Given the description of an element on the screen output the (x, y) to click on. 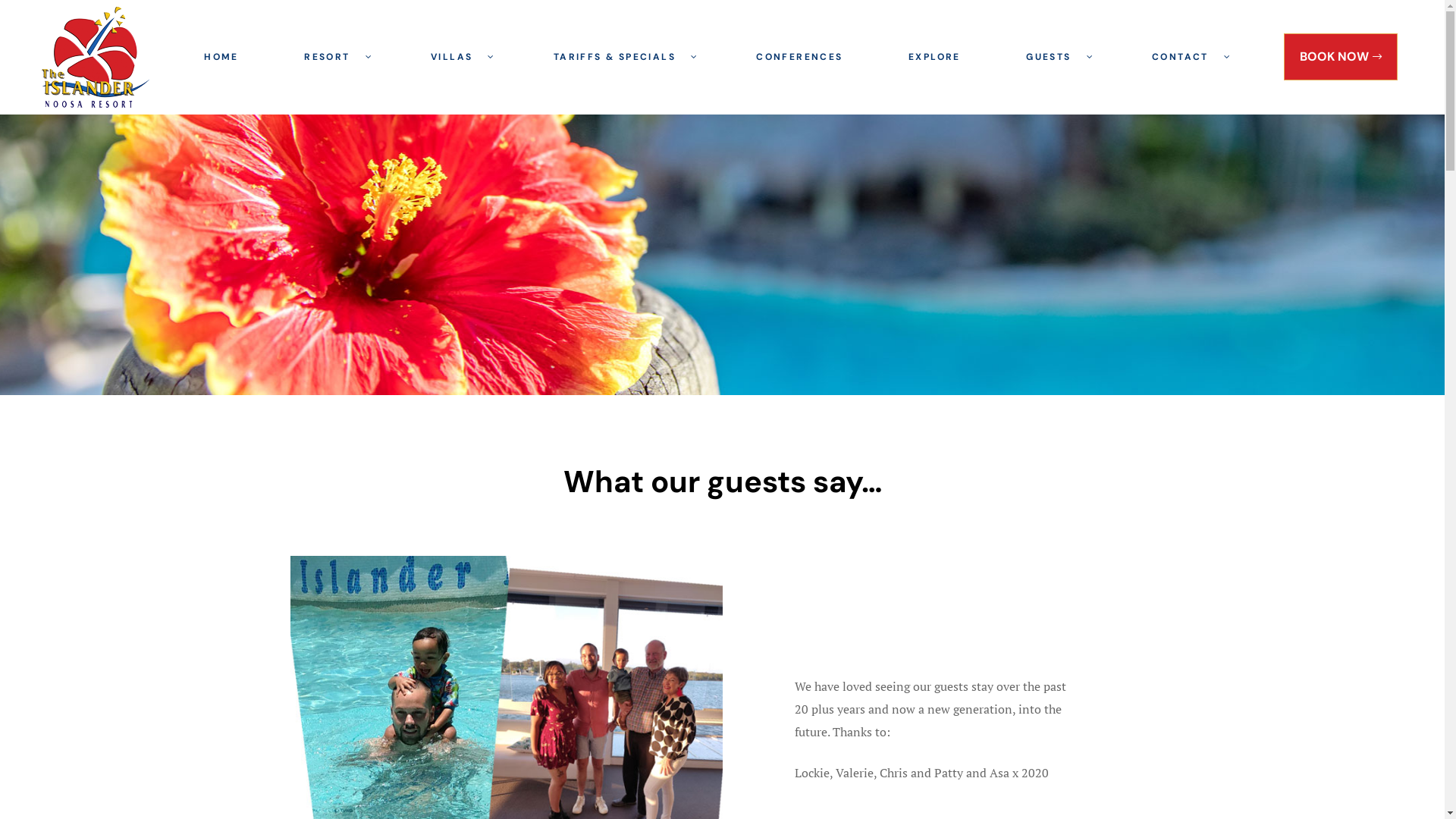
EXPLORE Element type: text (933, 56)
CONTACT Element type: text (1187, 56)
BOOK NOW Element type: text (1340, 56)
RESORT Element type: text (334, 56)
HOME Element type: text (221, 56)
CONFERENCES Element type: text (799, 56)
TARIFFS & SPECIALS Element type: text (621, 56)
VILLAS Element type: text (458, 56)
GUESTS Element type: text (1056, 56)
